Given the description of an element on the screen output the (x, y) to click on. 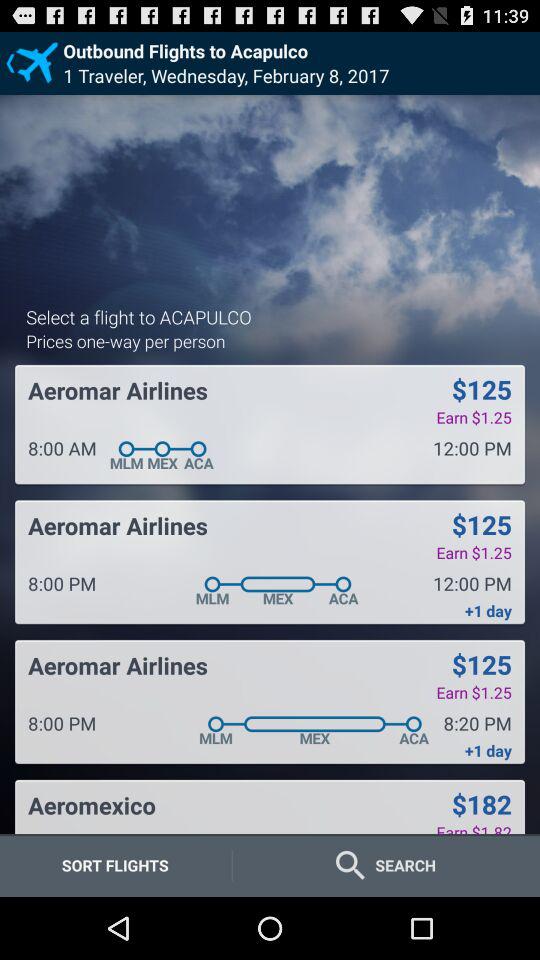
launch the item below the aeromexico (115, 864)
